Given the description of an element on the screen output the (x, y) to click on. 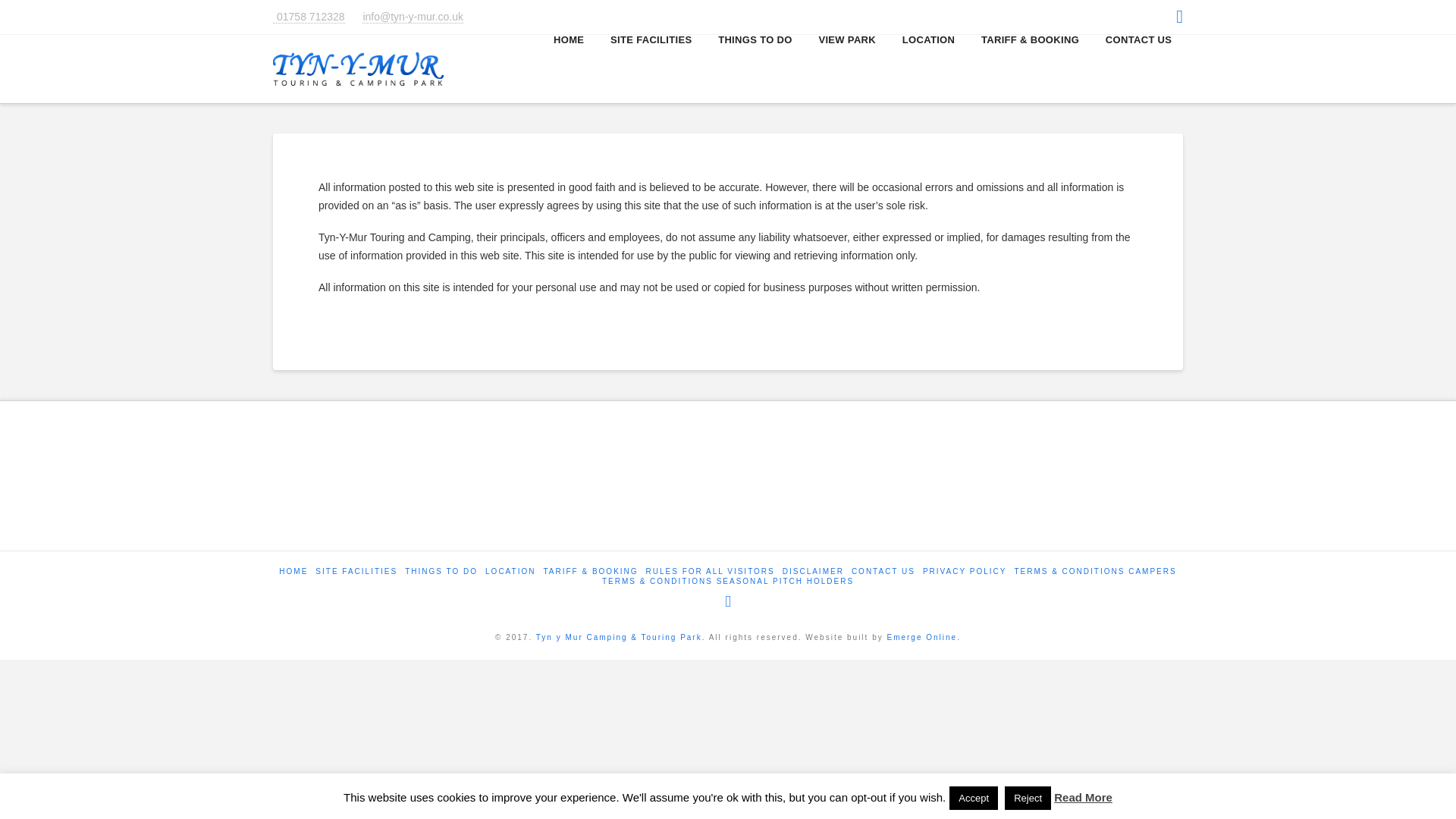
RULES FOR ALL VISITORS (710, 571)
PRIVACY POLICY (964, 571)
DISCLAIMER (813, 571)
SITE FACILITIES (356, 571)
Reject (1027, 797)
Read More (1083, 797)
LOCATION (509, 571)
Emerge Online (922, 637)
HOME (293, 571)
LOCATION (926, 69)
